Given the description of an element on the screen output the (x, y) to click on. 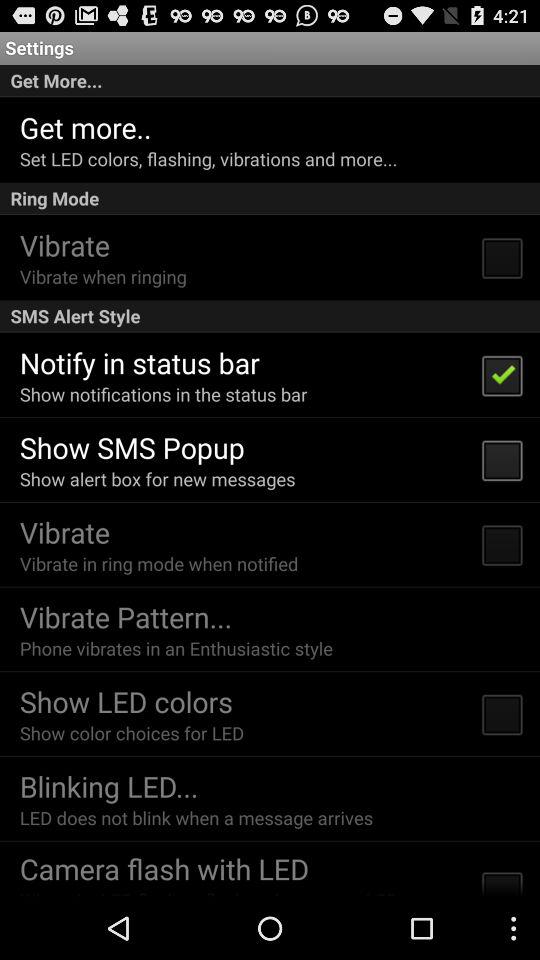
turn off the icon below vibrate item (158, 563)
